Given the description of an element on the screen output the (x, y) to click on. 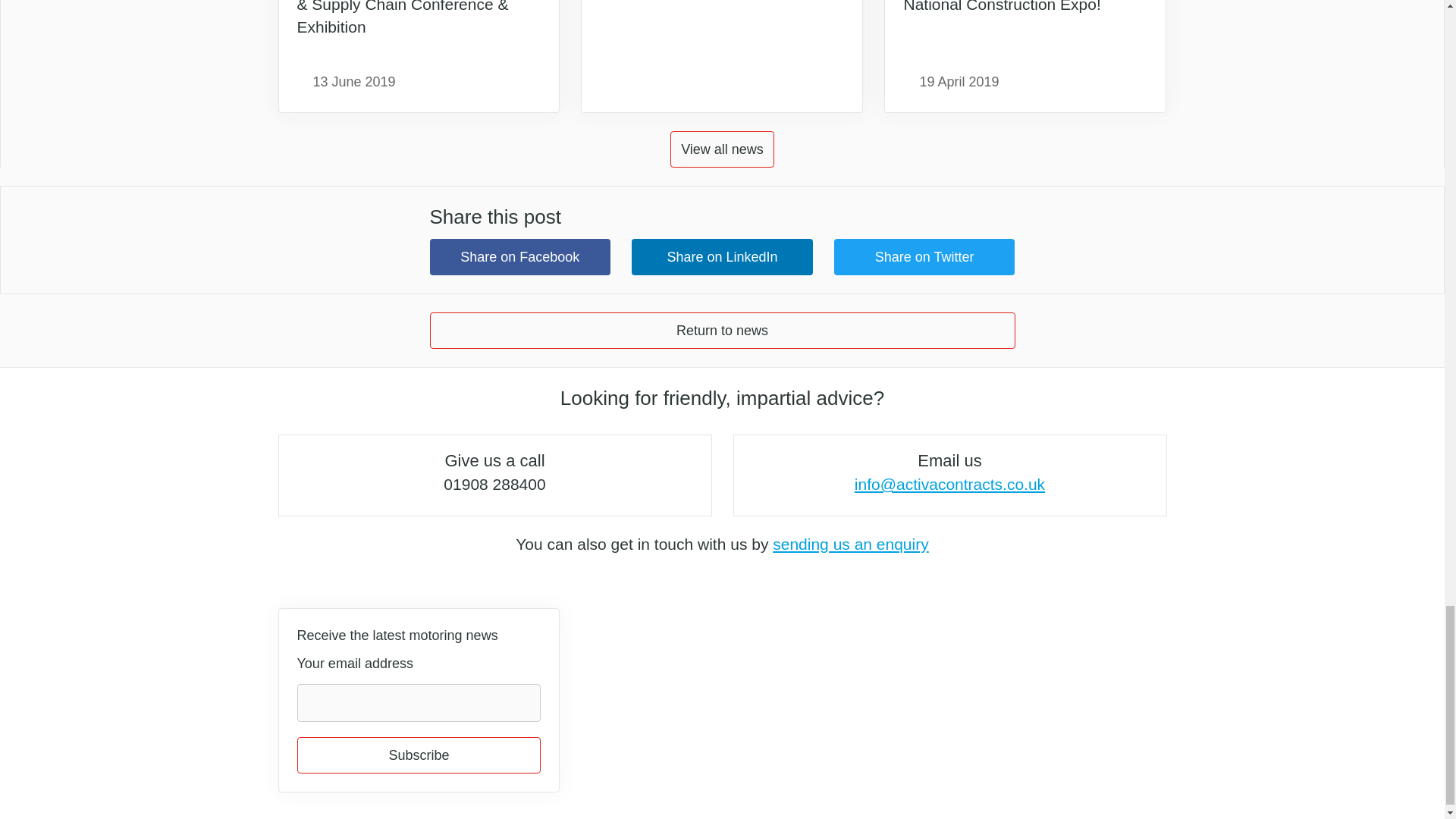
Share on Twitter (924, 257)
Return to news (721, 330)
sending us an enquiry (850, 543)
View all news (721, 149)
01908 288400 (494, 484)
Share on Facebook (519, 257)
Subscribe (419, 755)
Share on LinkedIn (721, 257)
